Given the description of an element on the screen output the (x, y) to click on. 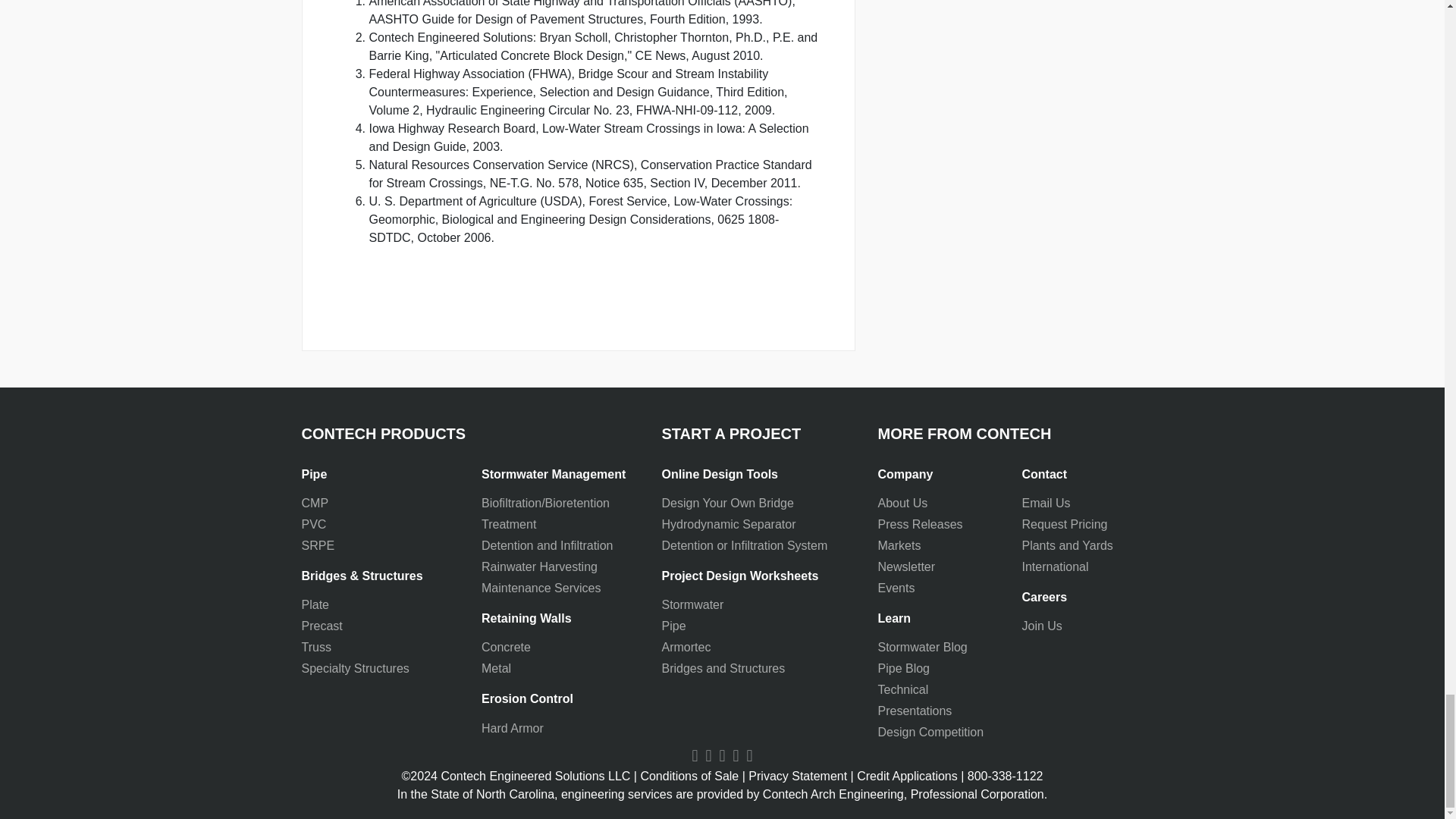
Instagram (749, 754)
LinkedIn (722, 754)
Twitter (736, 754)
YouTube (694, 754)
Facebook (707, 754)
